Given the description of an element on the screen output the (x, y) to click on. 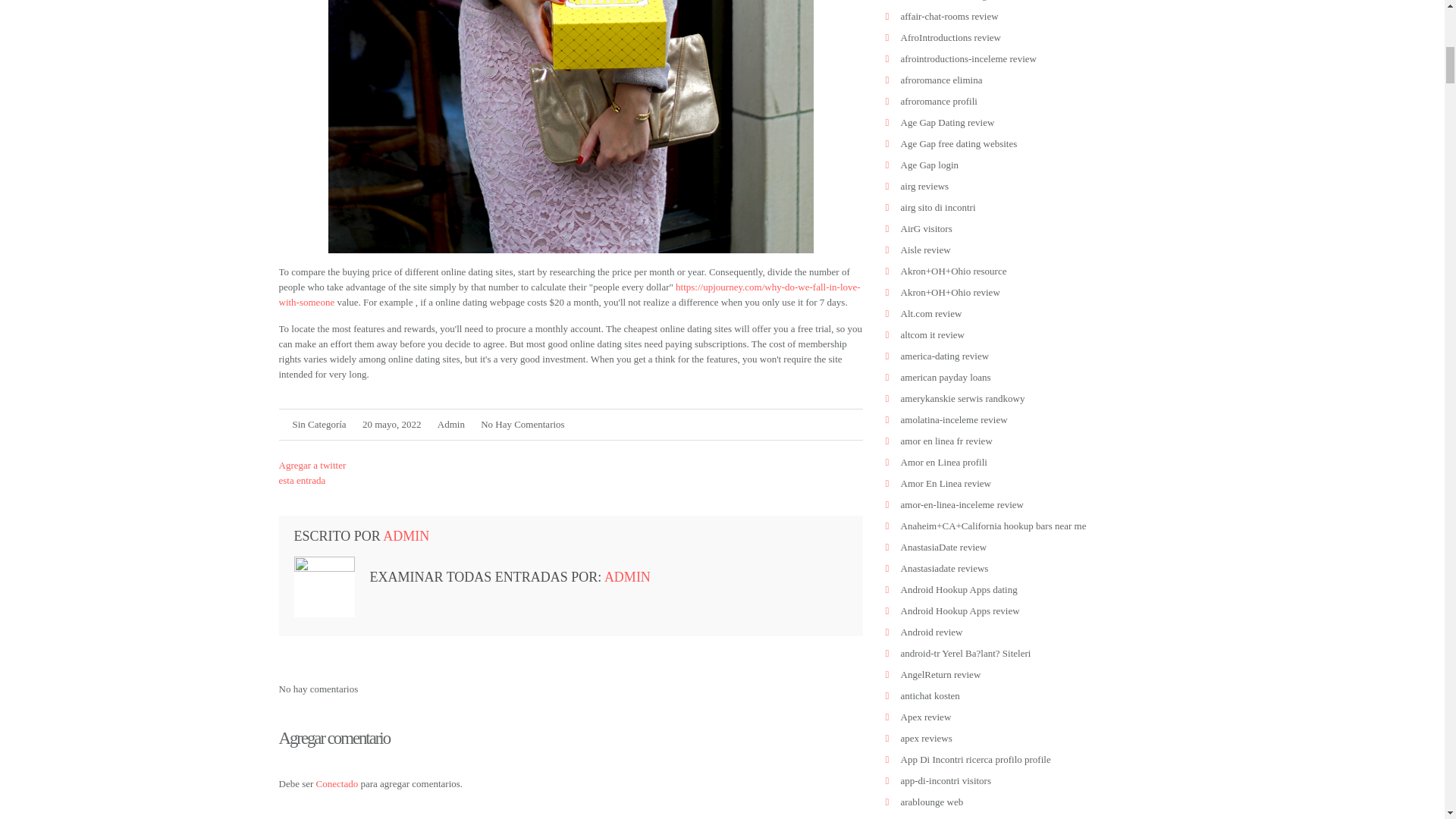
Entradas de admin (451, 423)
Admin (451, 423)
Agregar a twitter esta entrada (312, 472)
Conectado (336, 783)
ADMIN (405, 535)
No Hay Comentarios (522, 423)
Entradas de admin (405, 535)
ADMIN (627, 576)
Entradas de admin (627, 576)
